Given the description of an element on the screen output the (x, y) to click on. 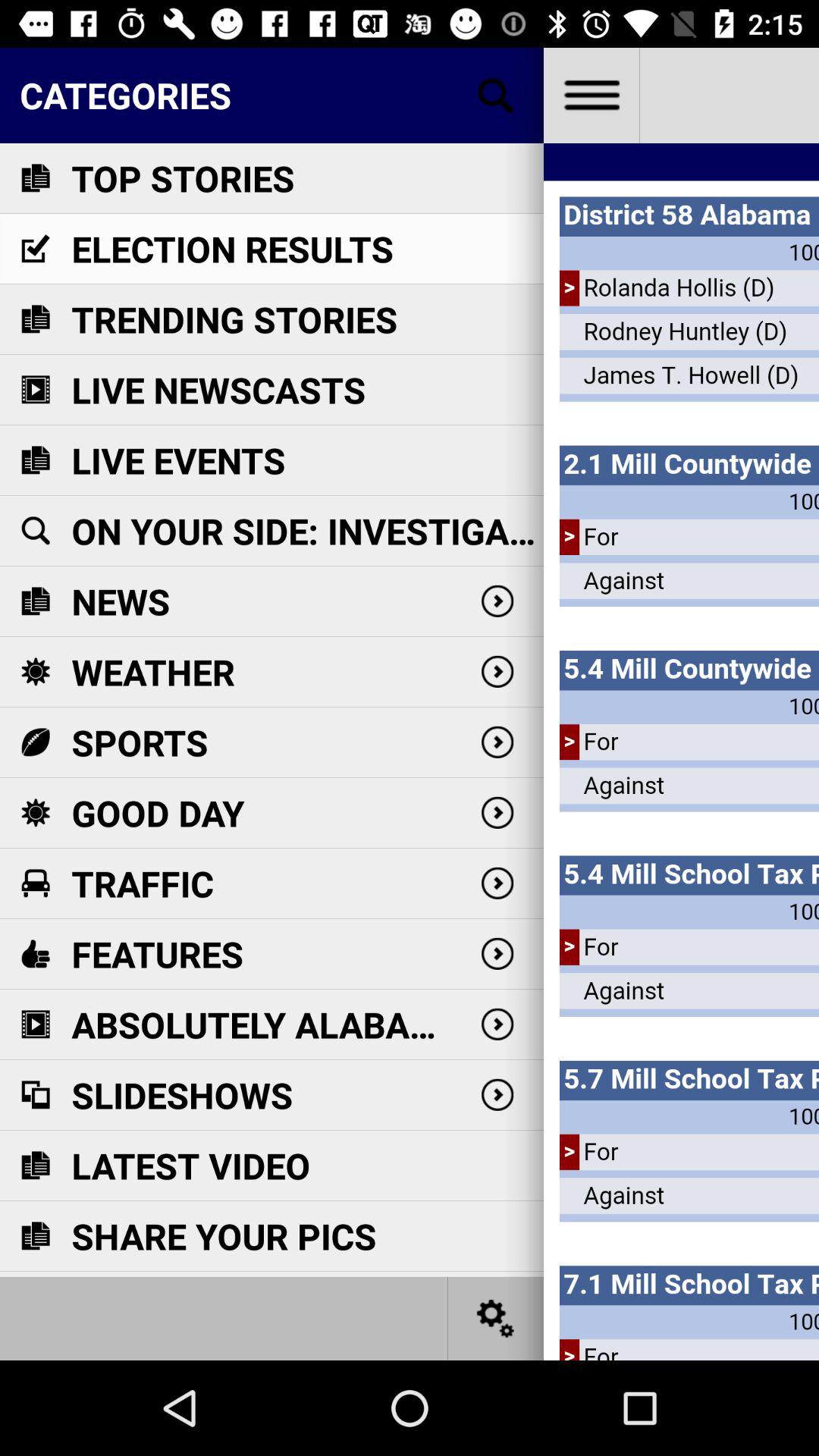
show list of categories (495, 95)
